Given the description of an element on the screen output the (x, y) to click on. 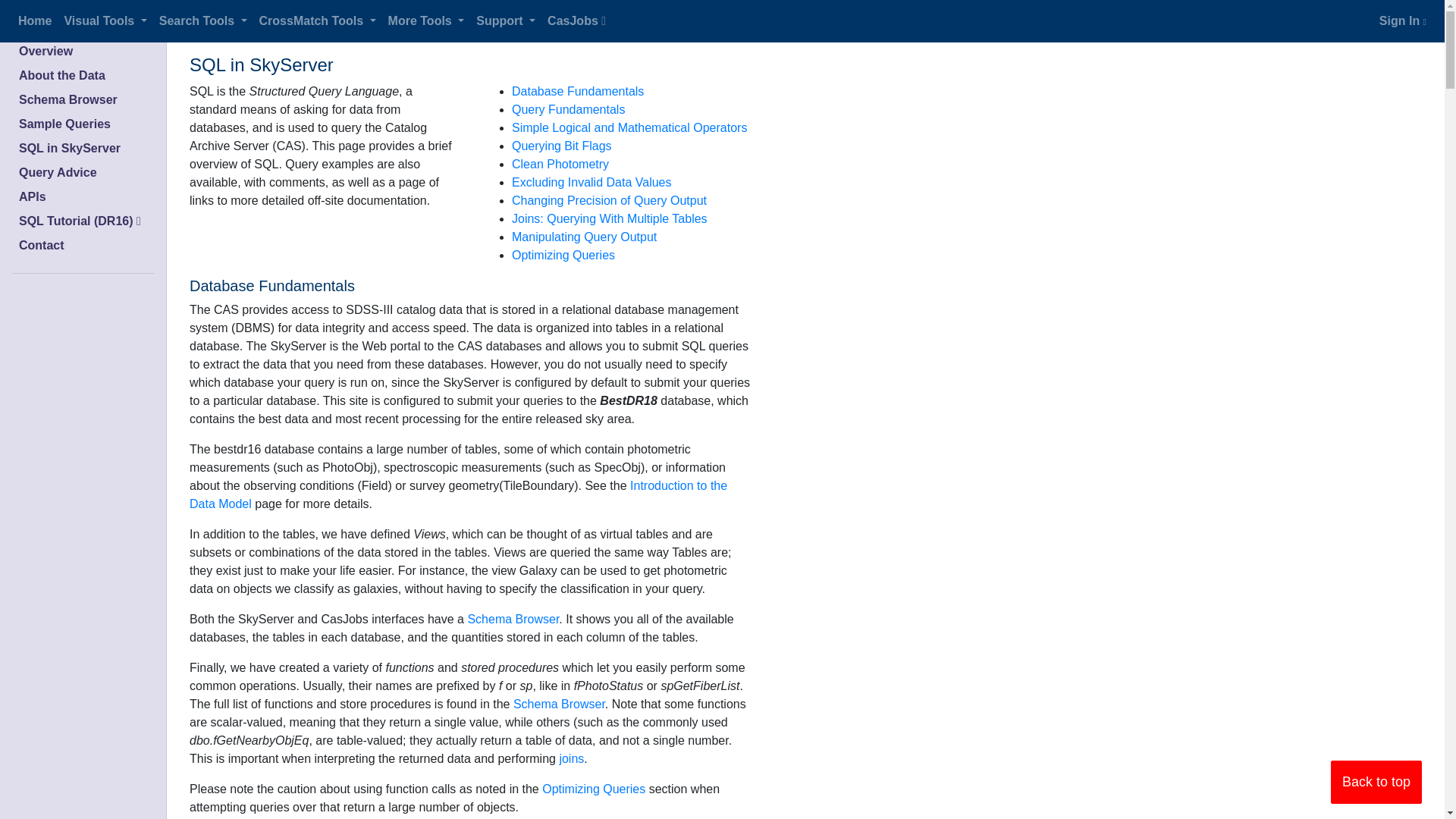
Visual Tools (105, 20)
Search Tools (202, 20)
Support (505, 20)
CrossMatch Tools (317, 20)
More Tools (425, 20)
Home (33, 20)
